Given the description of an element on the screen output the (x, y) to click on. 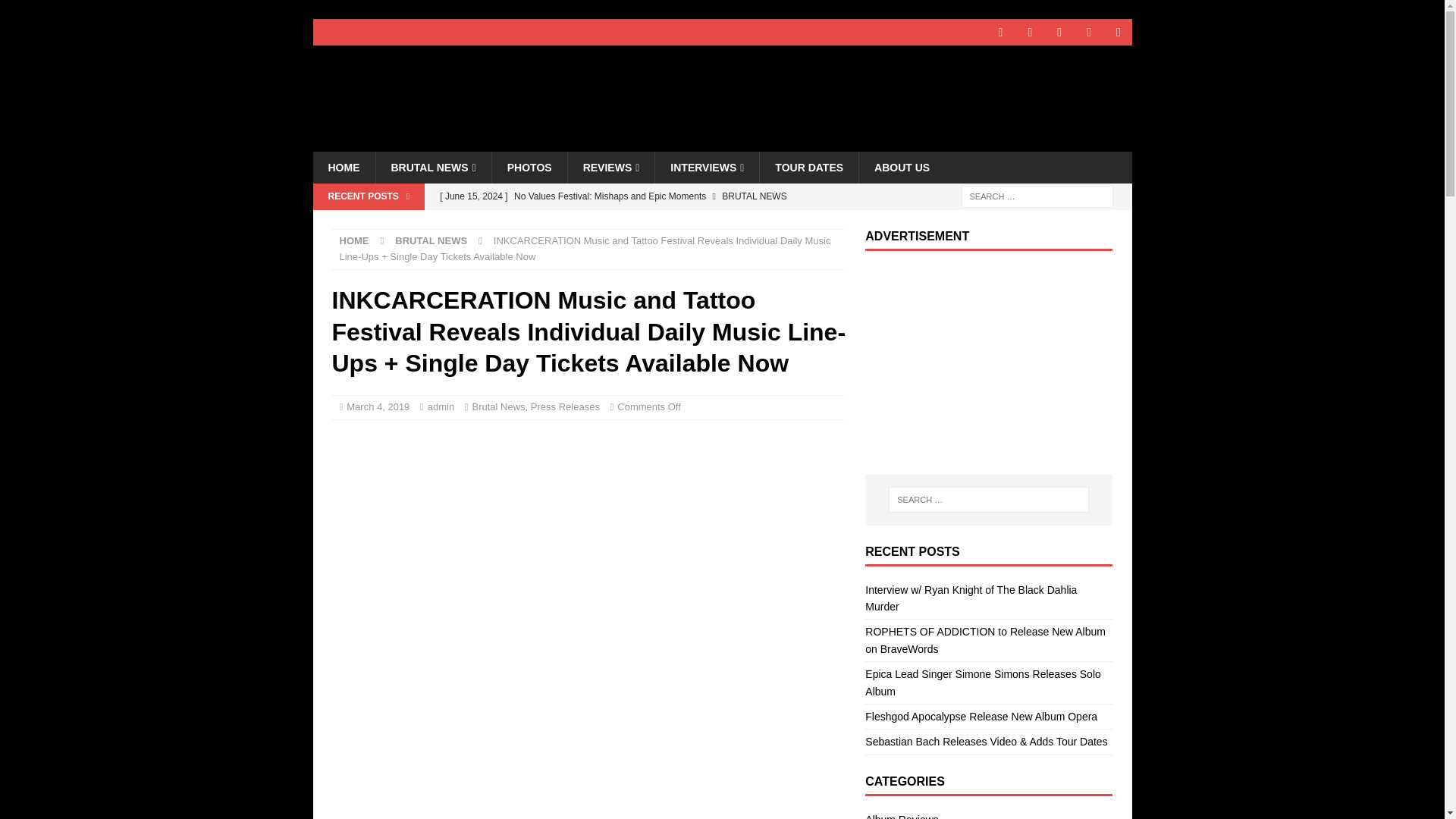
No Values Festival: Mishaps and Epic Moments (637, 196)
March 4, 2019 (377, 406)
ABOUT US (901, 167)
BRUTAL NEWS (432, 167)
BRUTAL NEWS (430, 240)
REVIEWS (611, 167)
Search (56, 11)
Press Releases (565, 406)
HOME (354, 240)
TOUR DATES (808, 167)
